Given the description of an element on the screen output the (x, y) to click on. 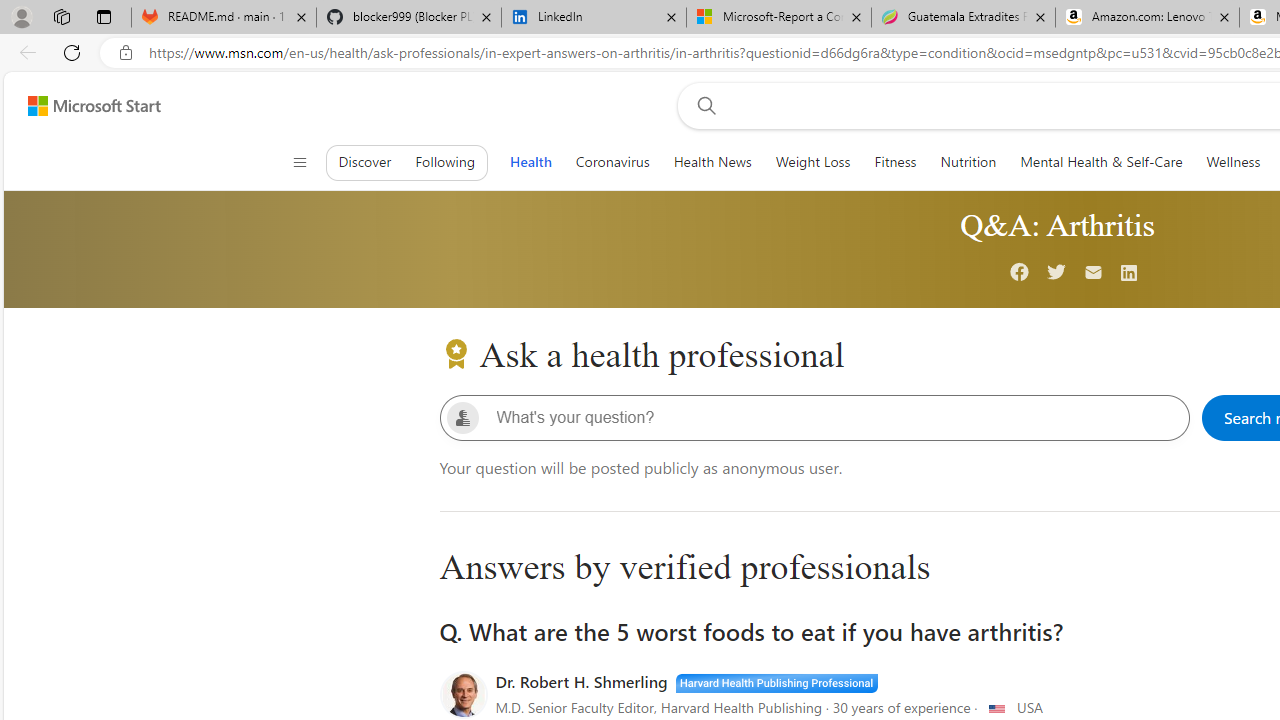
Fitness (895, 162)
Coronavirus (612, 162)
Mental Health & Self-Care (1101, 162)
Weight Loss (812, 162)
Nutrition (968, 162)
Health News (712, 162)
